Given the description of an element on the screen output the (x, y) to click on. 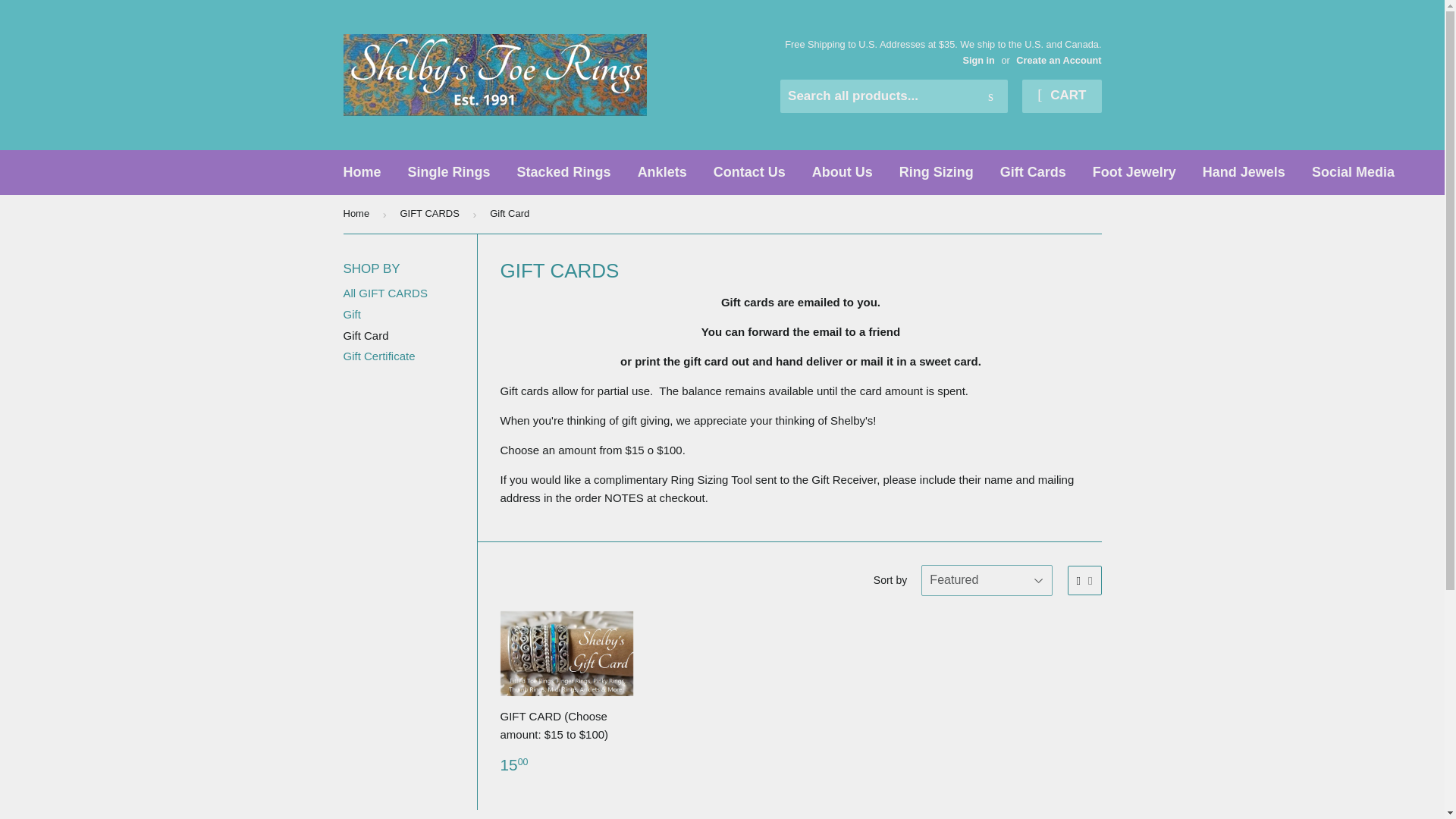
Single Rings (449, 171)
Hand Jewels (1244, 171)
Home (362, 171)
Show products matching tag Gift (350, 314)
Gift Certificate (378, 355)
Anklets (662, 171)
Show products matching tag Gift Certificate (378, 355)
Gift Cards (1032, 171)
Search (990, 97)
Sign in (978, 60)
Social Media (1353, 171)
About Us (841, 171)
All GIFT CARDS (384, 292)
GIFT CARDS (431, 213)
Ring Sizing (936, 171)
